Given the description of an element on the screen output the (x, y) to click on. 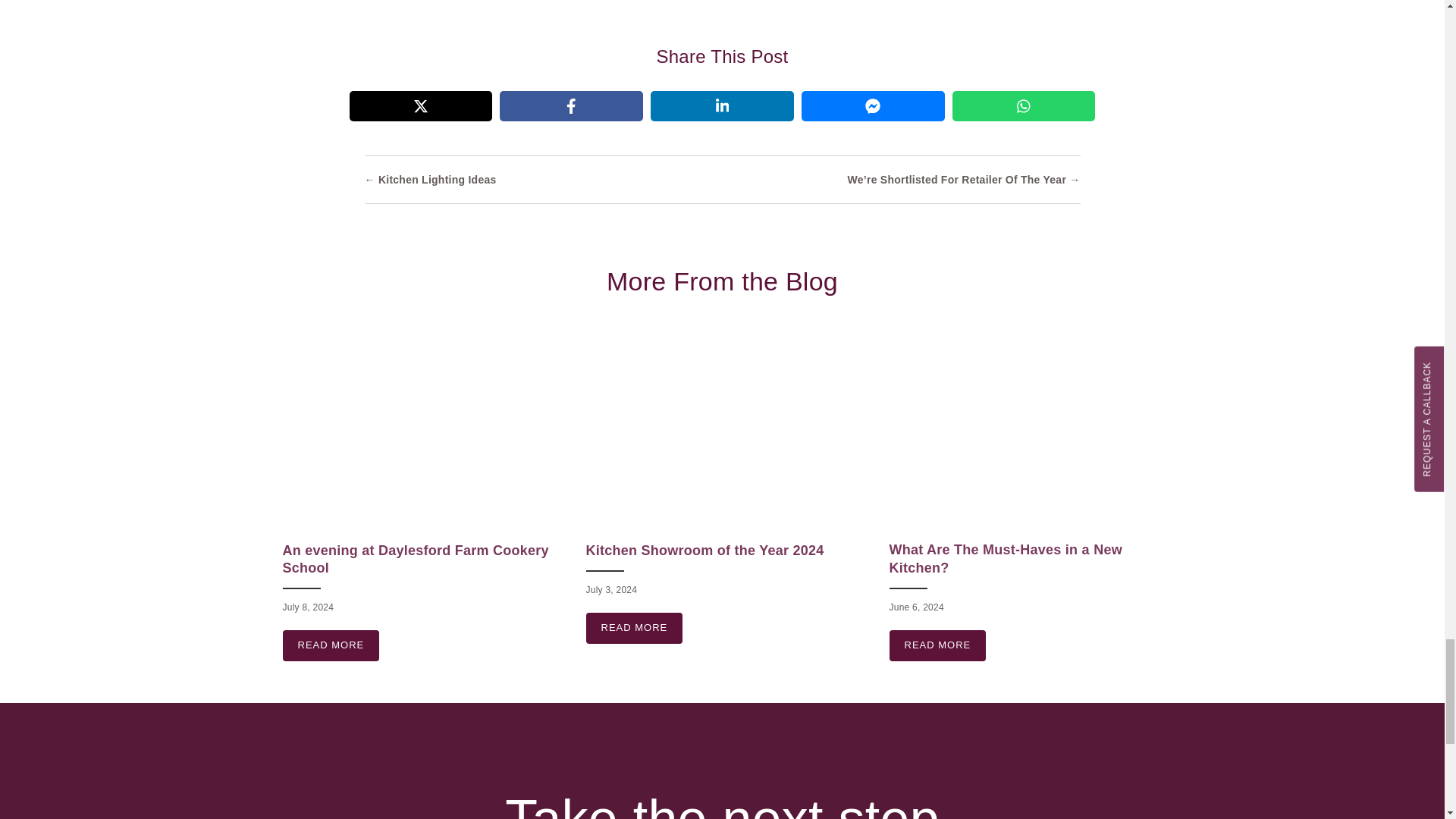
Classic-Worcester-1 (1024, 429)
What Are The Must-Haves in a New Kitchen? (1004, 558)
What Are The Must-Haves in a New Kitchen? (936, 644)
An evening at Daylesford Farm Cookery School (330, 644)
Kitchen Showroom of the Year 2024 (633, 627)
An evening at Daylesford Farm Cookery School (415, 558)
Kitchen Showroom of the Year 2024 (704, 549)
